Given the description of an element on the screen output the (x, y) to click on. 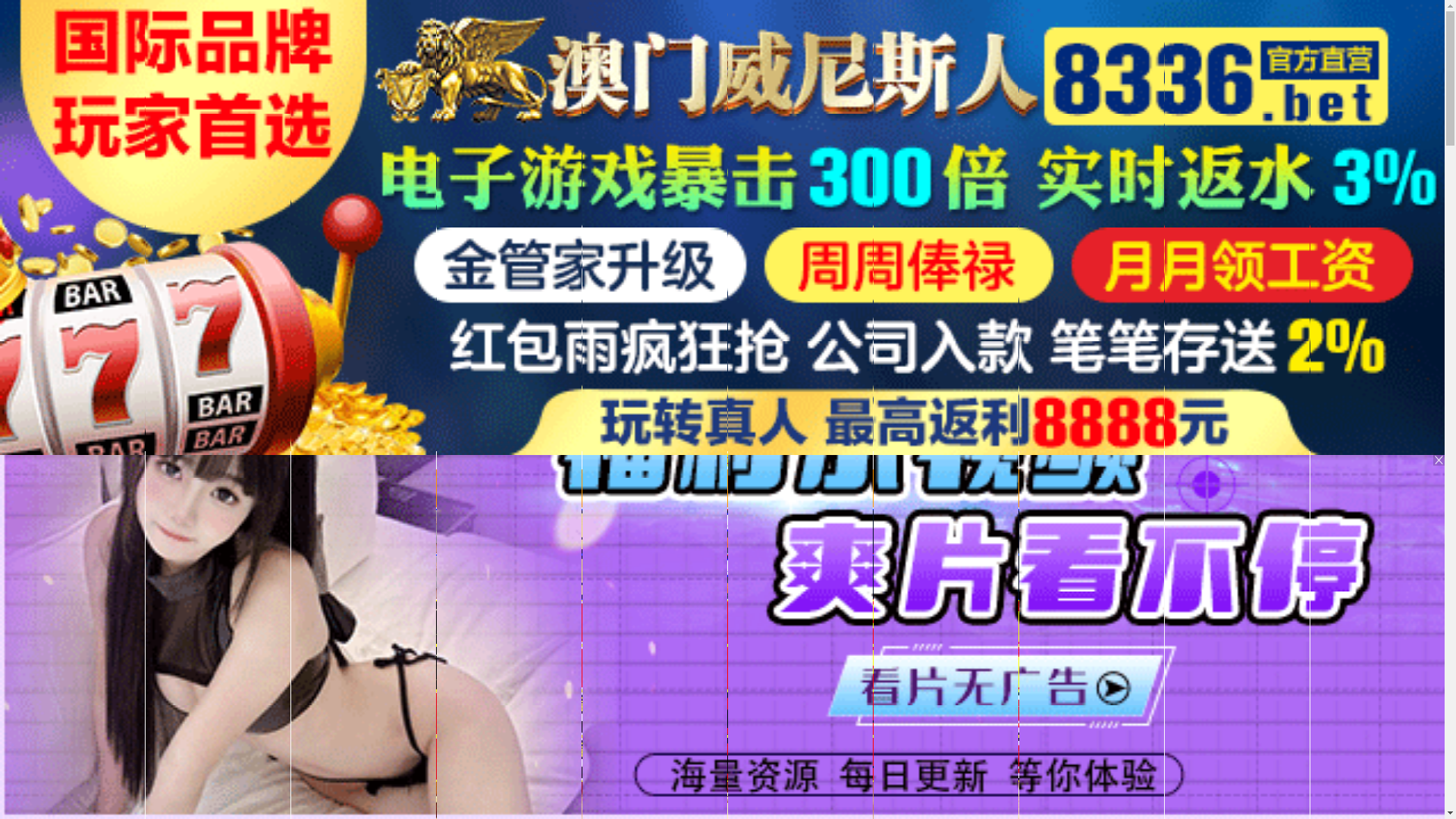
07pa.com Element type: text (721, 491)
